Given the description of an element on the screen output the (x, y) to click on. 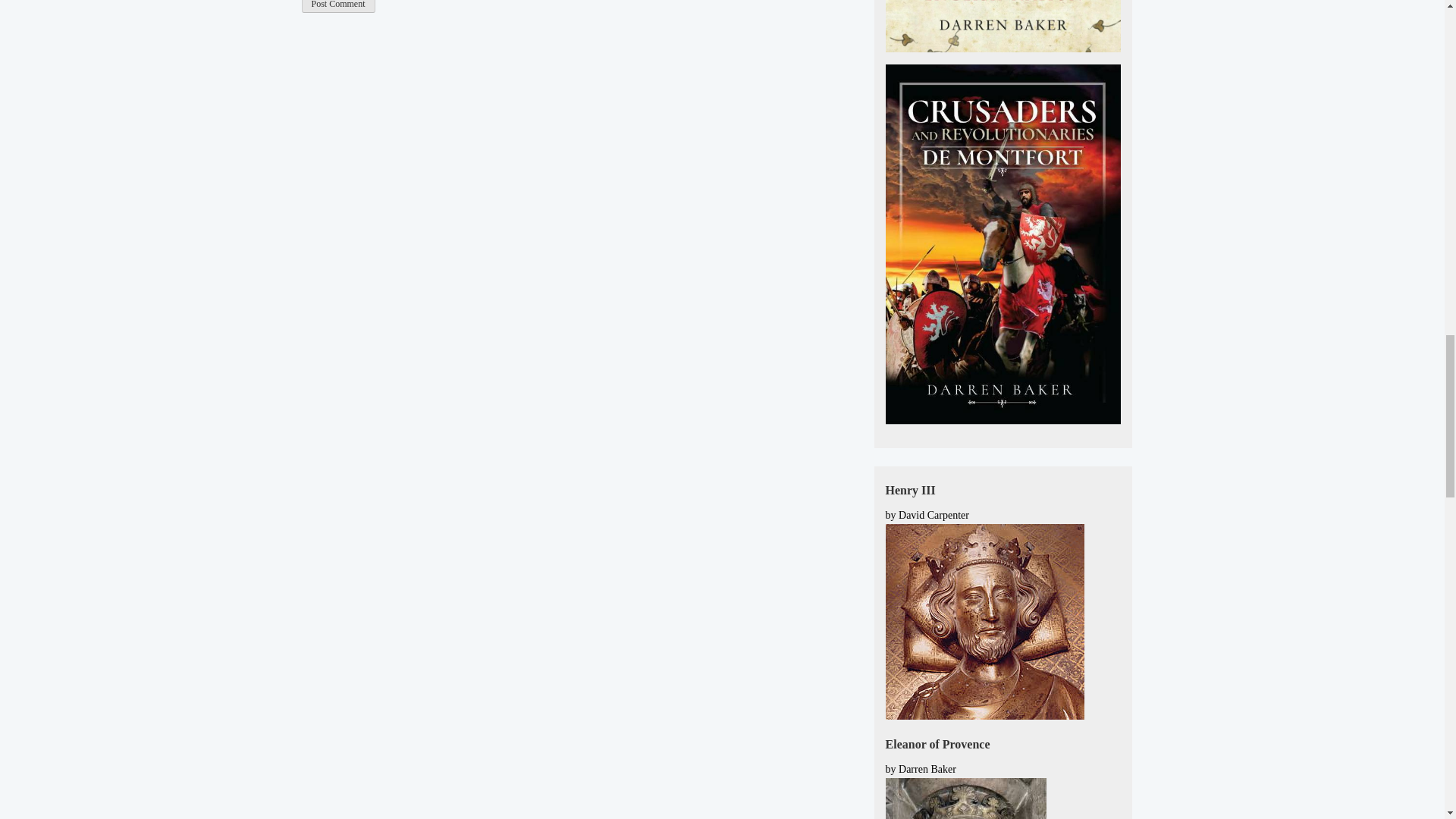
Post Comment (338, 6)
